Given the description of an element on the screen output the (x, y) to click on. 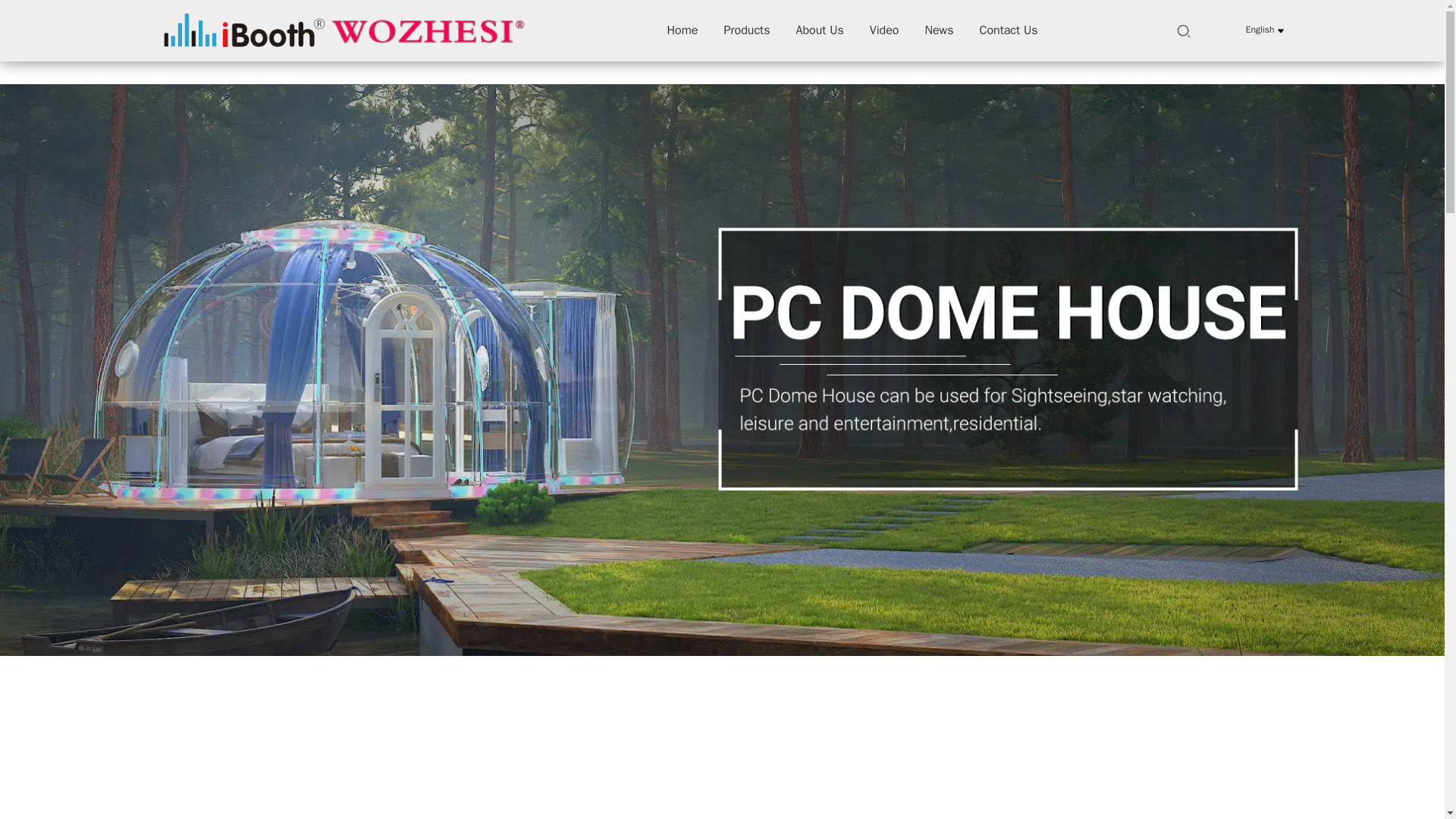
Products (746, 30)
About Us (820, 30)
products (746, 30)
Contact Us (1007, 30)
About Us (820, 30)
search (1183, 29)
Contact Us (1007, 30)
